Given the description of an element on the screen output the (x, y) to click on. 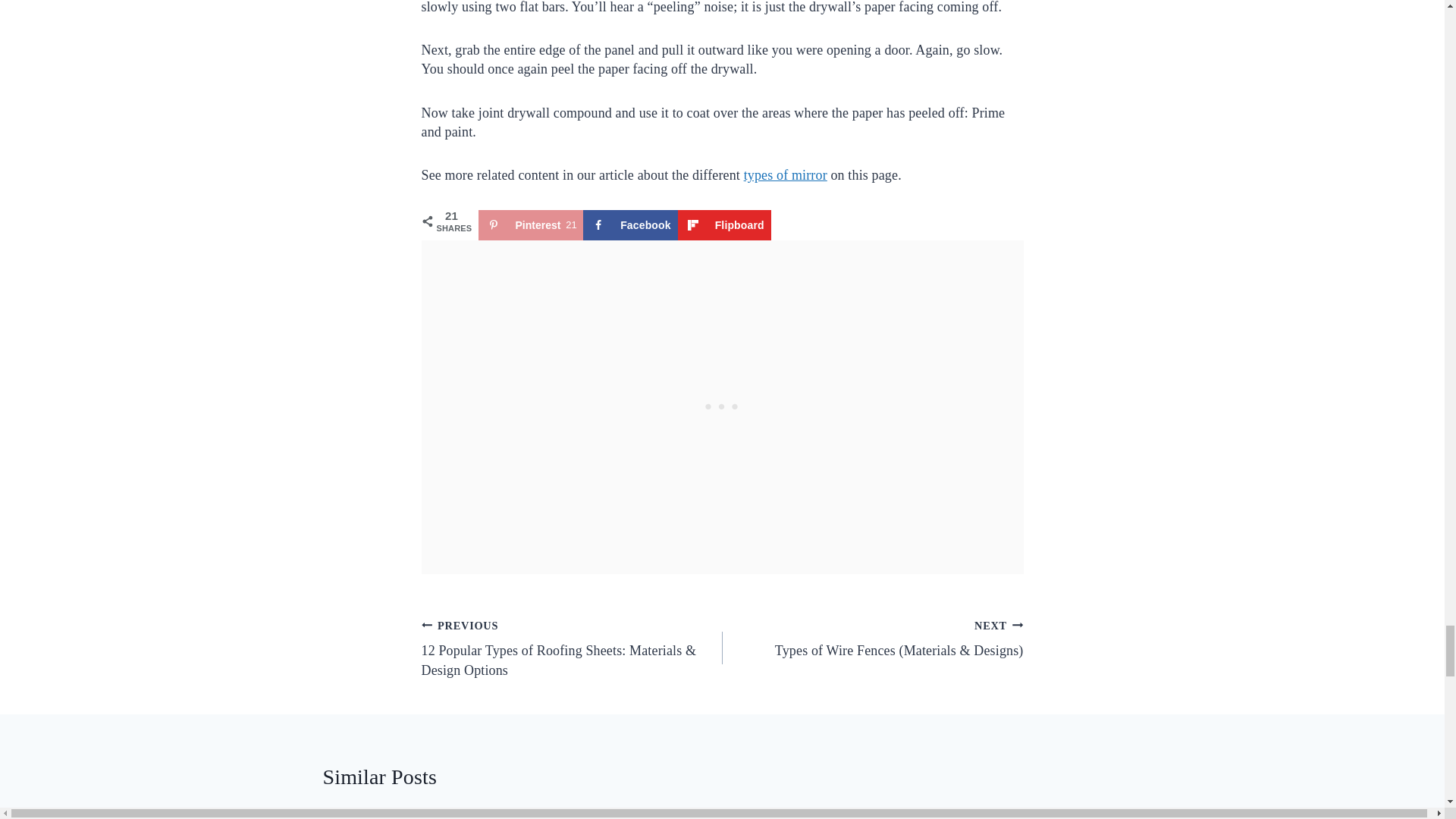
Save to Pinterest (530, 224)
Share on Facebook (630, 224)
Share on Flipboard (724, 224)
